Given the description of an element on the screen output the (x, y) to click on. 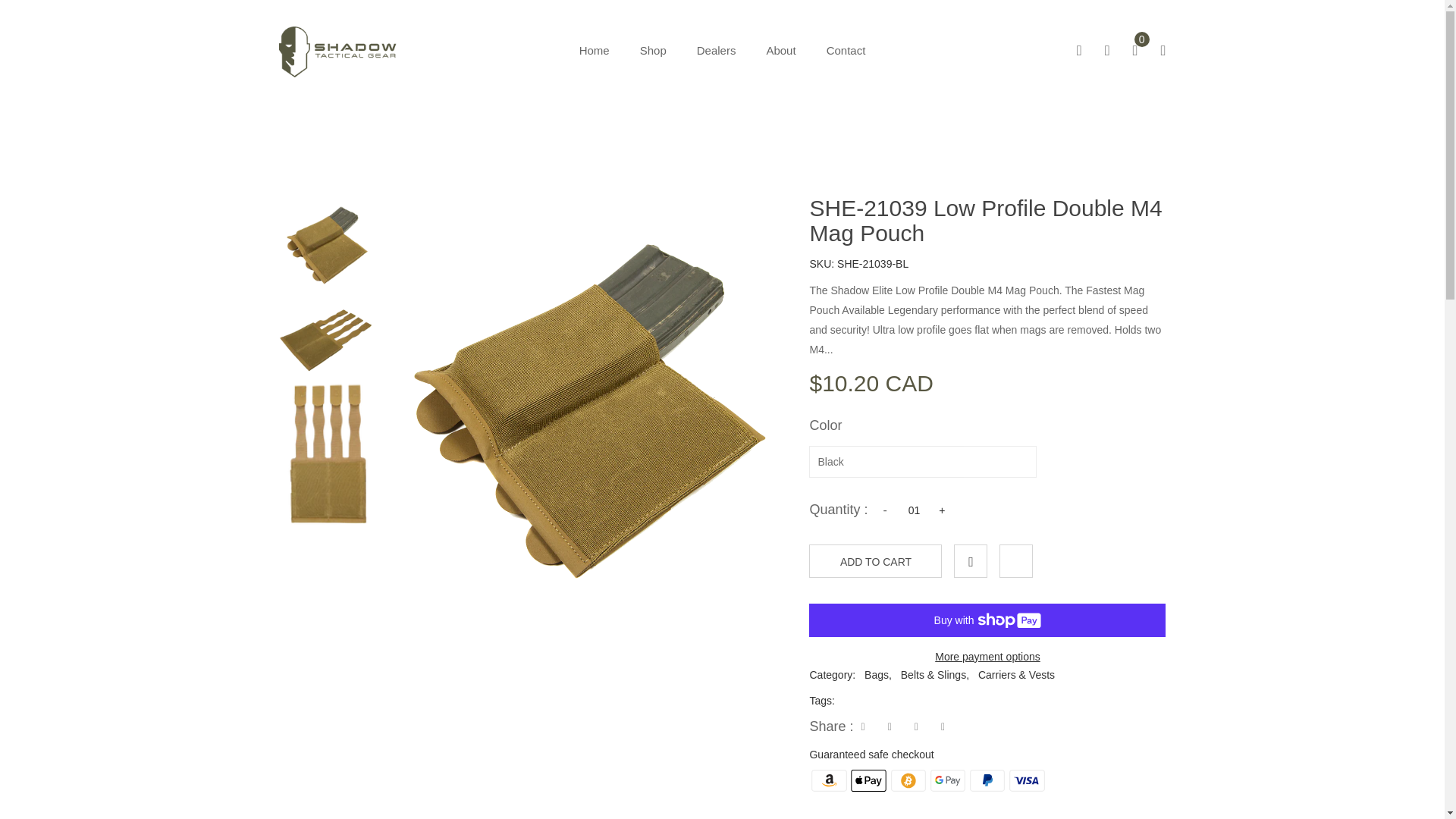
01 (913, 509)
Send (1146, 635)
